Given the description of an element on the screen output the (x, y) to click on. 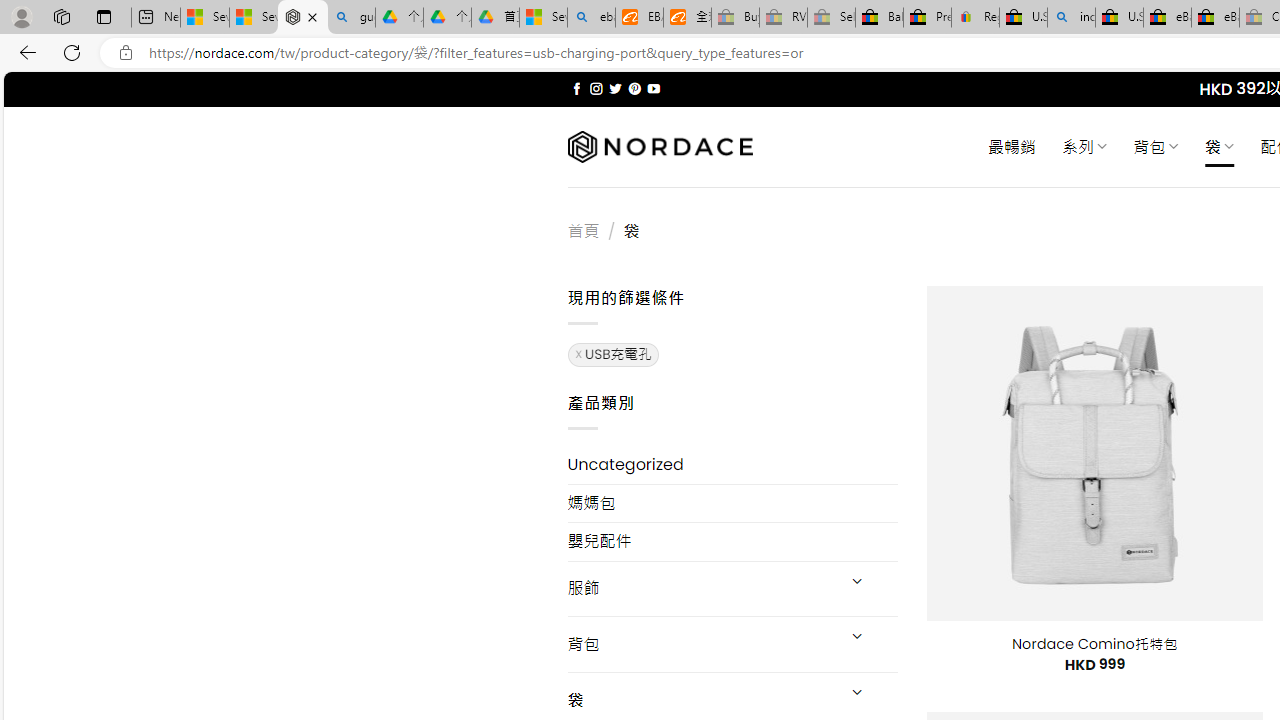
Sell worldwide with eBay - Sleeping (831, 17)
Follow on YouTube (653, 88)
Buy Auto Parts & Accessories | eBay - Sleeping (735, 17)
